Given the description of an element on the screen output the (x, y) to click on. 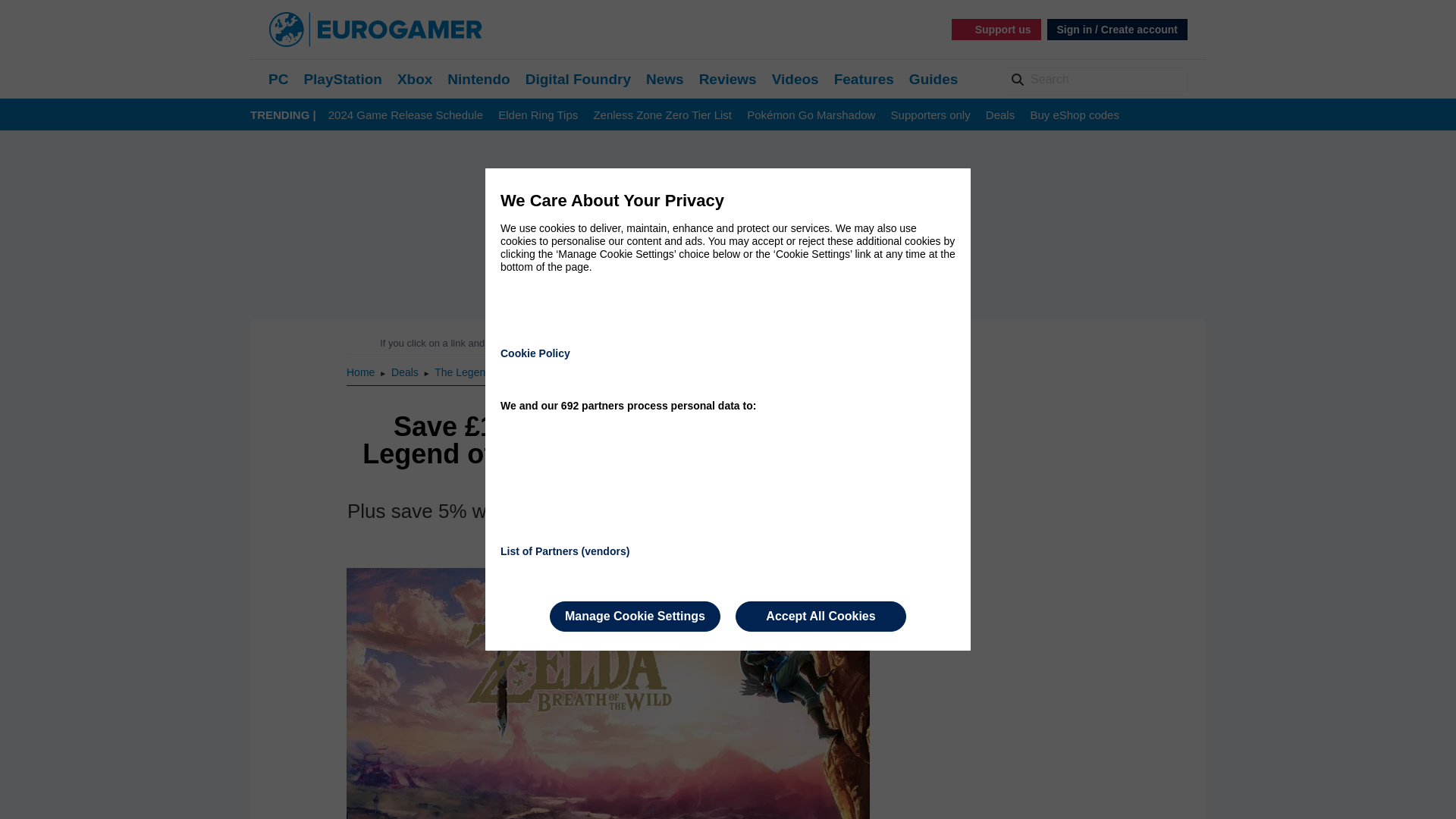
Digital Foundry (577, 78)
Nintendo (477, 78)
Home (361, 372)
The Legend of Zelda: Breath of the Wild (528, 372)
Home (361, 372)
Guides (933, 78)
Deals (406, 372)
Features (863, 78)
Read our editorial policy (781, 342)
Deals (999, 114)
Deals (999, 114)
Guides (933, 78)
Buy eShop codes (1074, 114)
Zenless Zone Zero Tier List (662, 114)
Videos (794, 78)
